Given the description of an element on the screen output the (x, y) to click on. 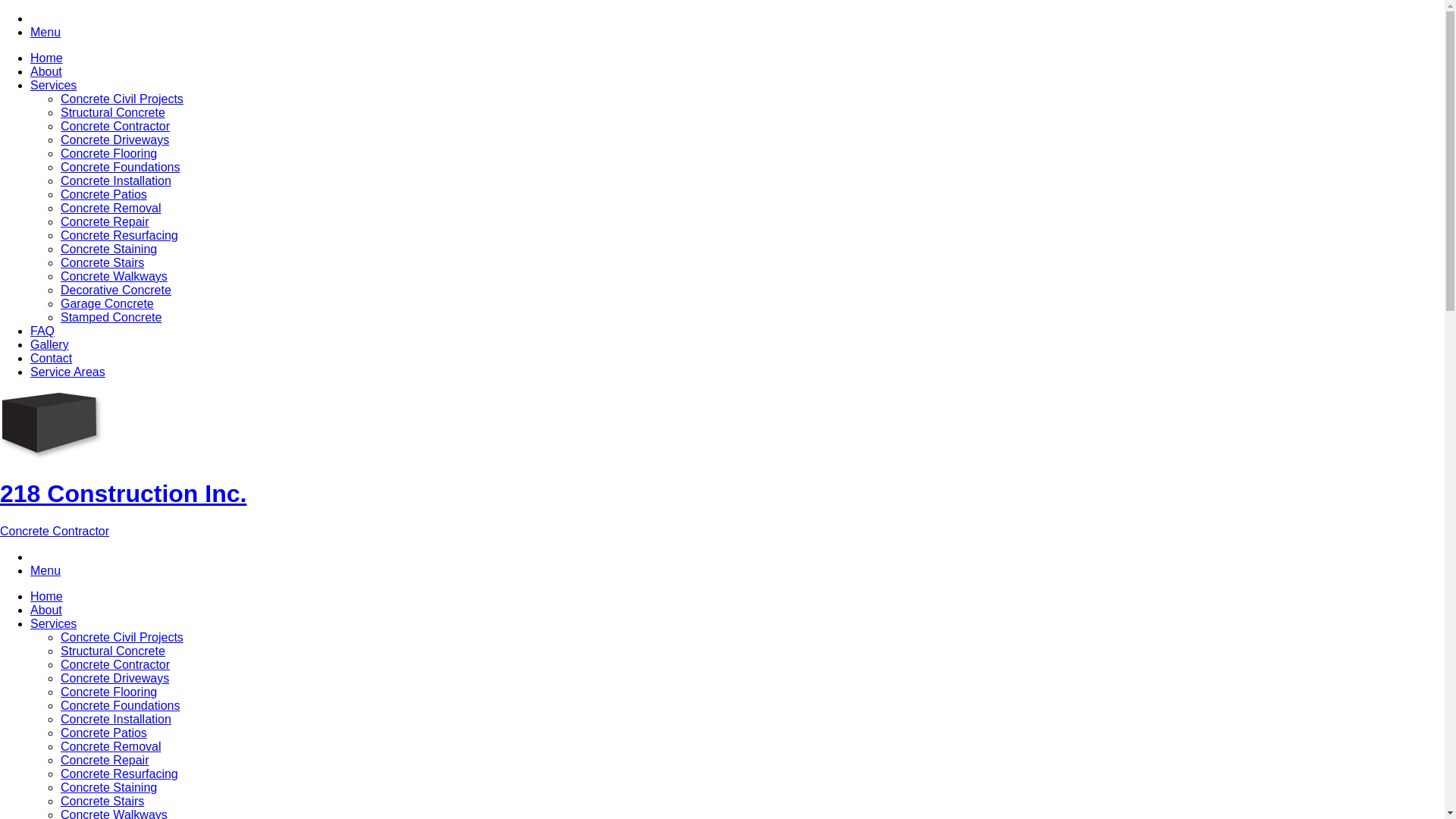
Menu Element type: text (45, 31)
Concrete Civil Projects Element type: text (121, 636)
Concrete Patios Element type: text (103, 194)
Concrete Contractor Element type: text (114, 664)
About Element type: text (46, 609)
Home Element type: text (46, 57)
Concrete Foundations Element type: text (119, 166)
Service Areas Element type: text (67, 371)
Concrete Civil Projects Element type: text (121, 98)
Services Element type: text (53, 623)
Gallery Element type: text (49, 344)
Concrete Contractor Element type: text (114, 125)
Decorative Concrete Element type: text (115, 289)
218 Construction Inc.
Concrete Contractor Element type: text (722, 494)
FAQ Element type: text (42, 330)
Stamped Concrete Element type: text (110, 316)
Concrete Stairs Element type: text (102, 800)
Garage Concrete Element type: text (106, 303)
Concrete Resurfacing Element type: text (119, 773)
Structural Concrete Element type: text (112, 650)
Concrete Staining Element type: text (108, 248)
Concrete Foundations Element type: text (119, 705)
Contact Element type: text (51, 357)
Home Element type: text (46, 595)
Concrete Driveways Element type: text (114, 677)
Concrete Installation Element type: text (115, 180)
Concrete Repair Element type: text (104, 759)
Concrete Walkways Element type: text (113, 275)
Concrete Flooring Element type: text (108, 691)
Concrete Patios Element type: text (103, 732)
Concrete Resurfacing Element type: text (119, 235)
Concrete Flooring Element type: text (108, 153)
Concrete Driveways Element type: text (114, 139)
Concrete Staining Element type: text (108, 787)
Concrete Removal Element type: text (110, 746)
Concrete Installation Element type: text (115, 718)
Structural Concrete Element type: text (112, 112)
Concrete Removal Element type: text (110, 207)
Concrete Repair Element type: text (104, 221)
About Element type: text (46, 71)
Menu Element type: text (45, 570)
Concrete Stairs Element type: text (102, 262)
Services Element type: text (53, 84)
